Given the description of an element on the screen output the (x, y) to click on. 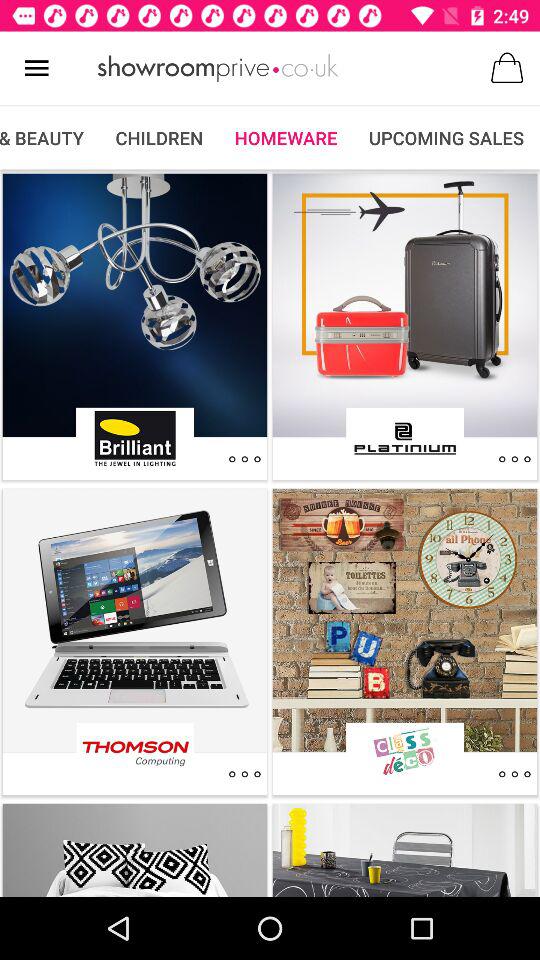
settings (244, 459)
